Given the description of an element on the screen output the (x, y) to click on. 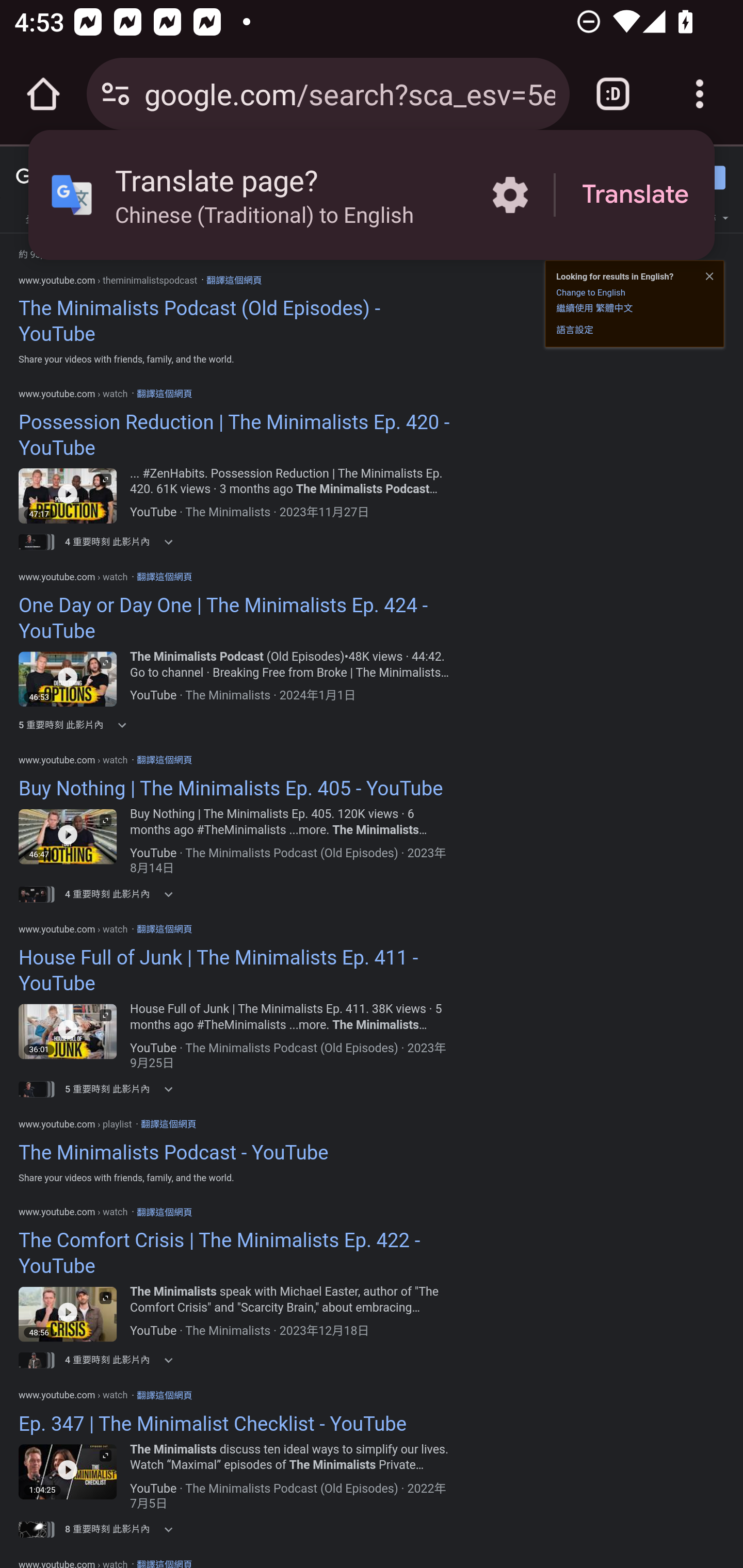
Open the home page (43, 93)
Connection is secure (115, 93)
Switch or close tabs (612, 93)
Customize and control Google Chrome (699, 93)
Translate (634, 195)
More options in the Translate page? (509, 195)
翻譯這個網頁 (233, 279)
Change to English (590, 291)
繼續使用 繁體中文 繼續使用  繁體中文 (594, 307)
語言設定 (574, 329)
翻譯這個網頁 (164, 394)
4 重要時刻  此影片內 (124, 541)
翻譯這個網頁 (164, 576)
5 重要時刻  此影片內 (124, 724)
翻譯這個網頁 (164, 759)
4 重要時刻  此影片內 (124, 894)
翻譯這個網頁 (164, 928)
5 重要時刻  此影片內 (124, 1088)
翻譯這個網頁 (168, 1123)
翻譯這個網頁 (164, 1211)
4 重要時刻  此影片內 (124, 1359)
翻譯這個網頁 (164, 1394)
8 重要時刻  此影片內 (124, 1528)
